Given the description of an element on the screen output the (x, y) to click on. 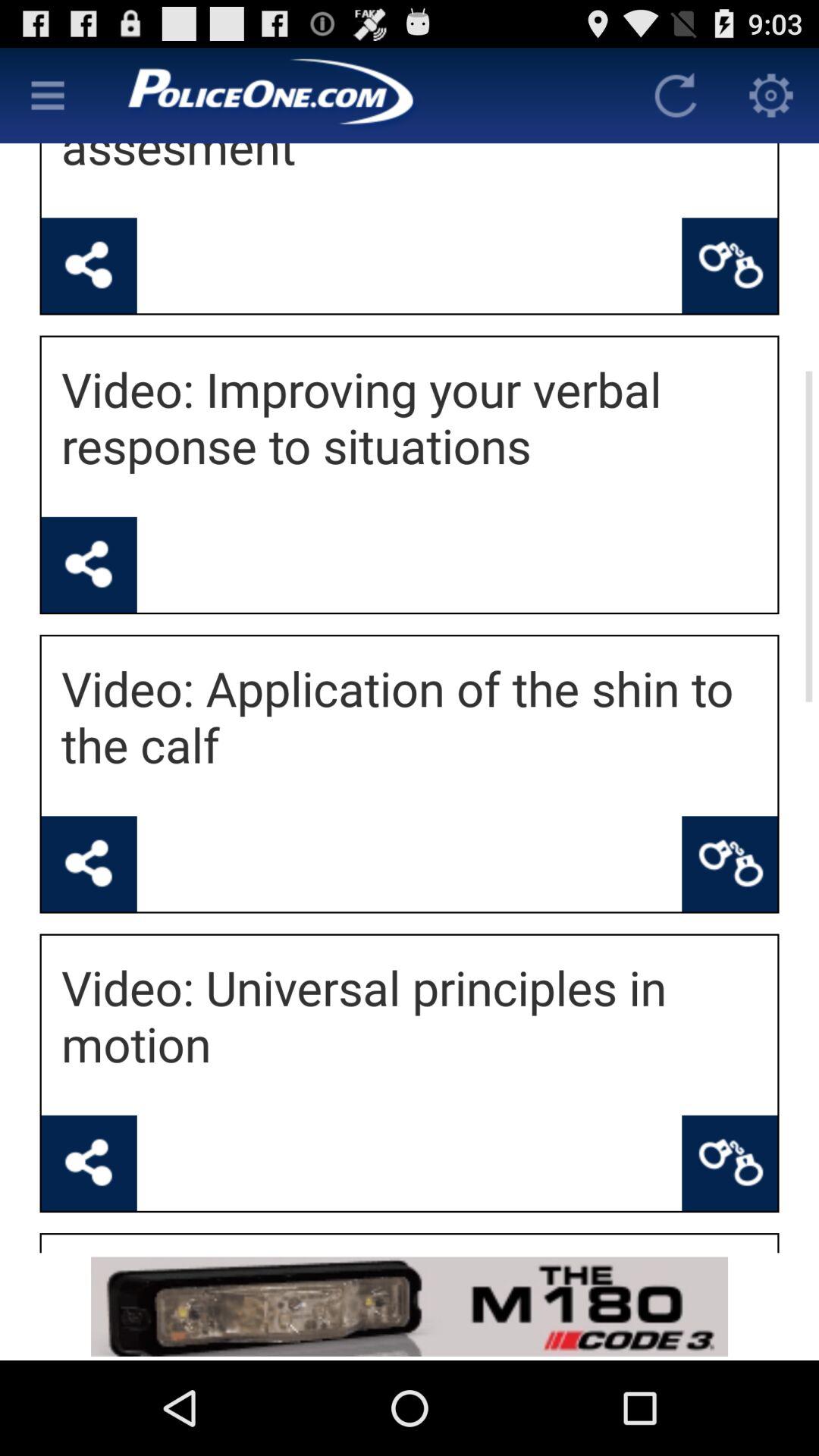
reload (675, 95)
